Given the description of an element on the screen output the (x, y) to click on. 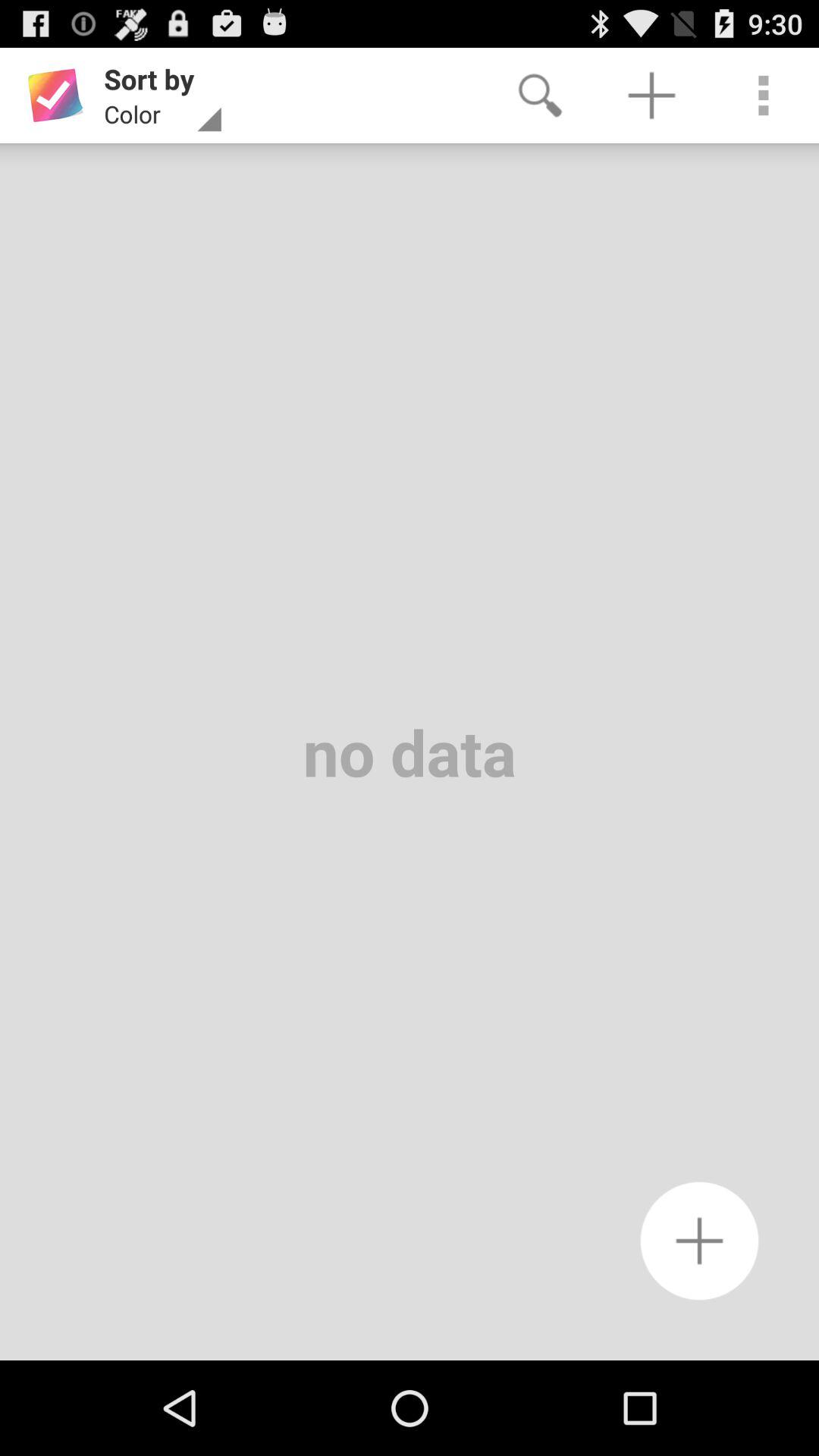
add reminder (699, 1240)
